Given the description of an element on the screen output the (x, y) to click on. 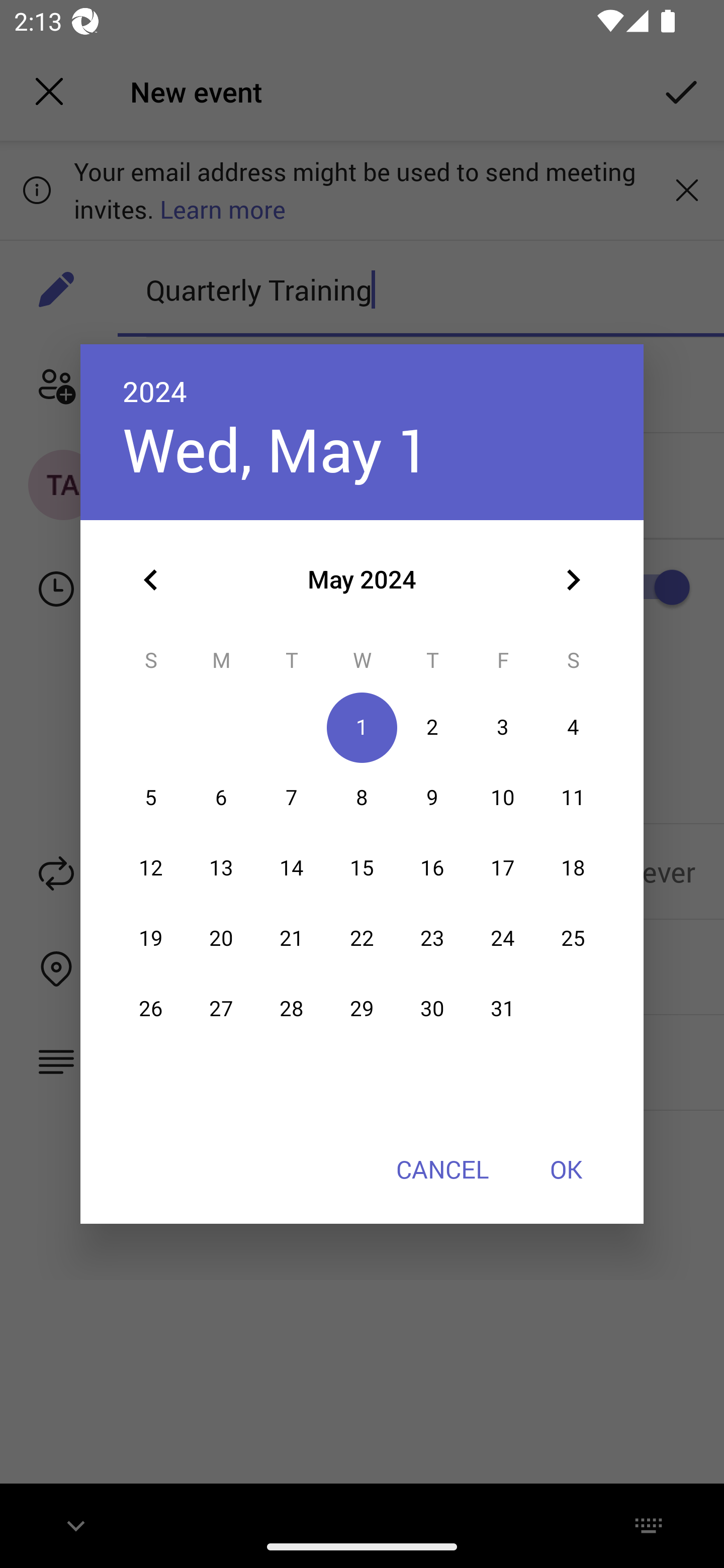
2024 (154, 391)
Wed, May 1 (276, 449)
Previous month (150, 579)
Next month (572, 579)
1 01 May 2024 (361, 728)
2 02 May 2024 (432, 728)
3 03 May 2024 (502, 728)
4 04 May 2024 (572, 728)
5 05 May 2024 (150, 797)
6 06 May 2024 (221, 797)
7 07 May 2024 (291, 797)
8 08 May 2024 (361, 797)
9 09 May 2024 (432, 797)
10 10 May 2024 (502, 797)
11 11 May 2024 (572, 797)
12 12 May 2024 (150, 867)
13 13 May 2024 (221, 867)
14 14 May 2024 (291, 867)
15 15 May 2024 (361, 867)
16 16 May 2024 (432, 867)
17 17 May 2024 (502, 867)
18 18 May 2024 (572, 867)
19 19 May 2024 (150, 938)
20 20 May 2024 (221, 938)
21 21 May 2024 (291, 938)
22 22 May 2024 (361, 938)
23 23 May 2024 (432, 938)
24 24 May 2024 (502, 938)
25 25 May 2024 (572, 938)
26 26 May 2024 (150, 1008)
27 27 May 2024 (221, 1008)
28 28 May 2024 (291, 1008)
29 29 May 2024 (361, 1008)
30 30 May 2024 (432, 1008)
31 31 May 2024 (502, 1008)
CANCEL (442, 1168)
OK (565, 1168)
